Given the description of an element on the screen output the (x, y) to click on. 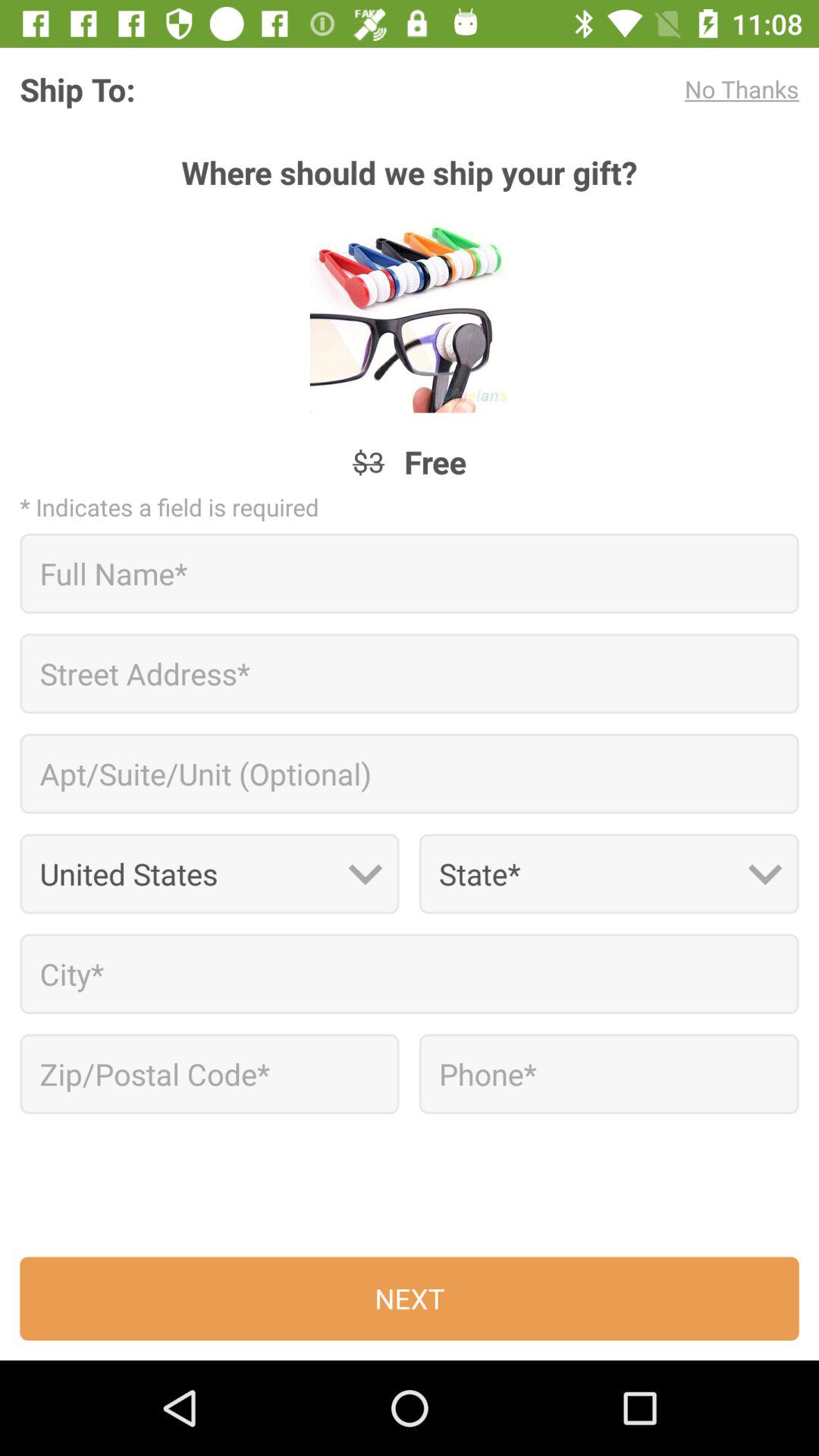
insert street address (409, 673)
